Given the description of an element on the screen output the (x, y) to click on. 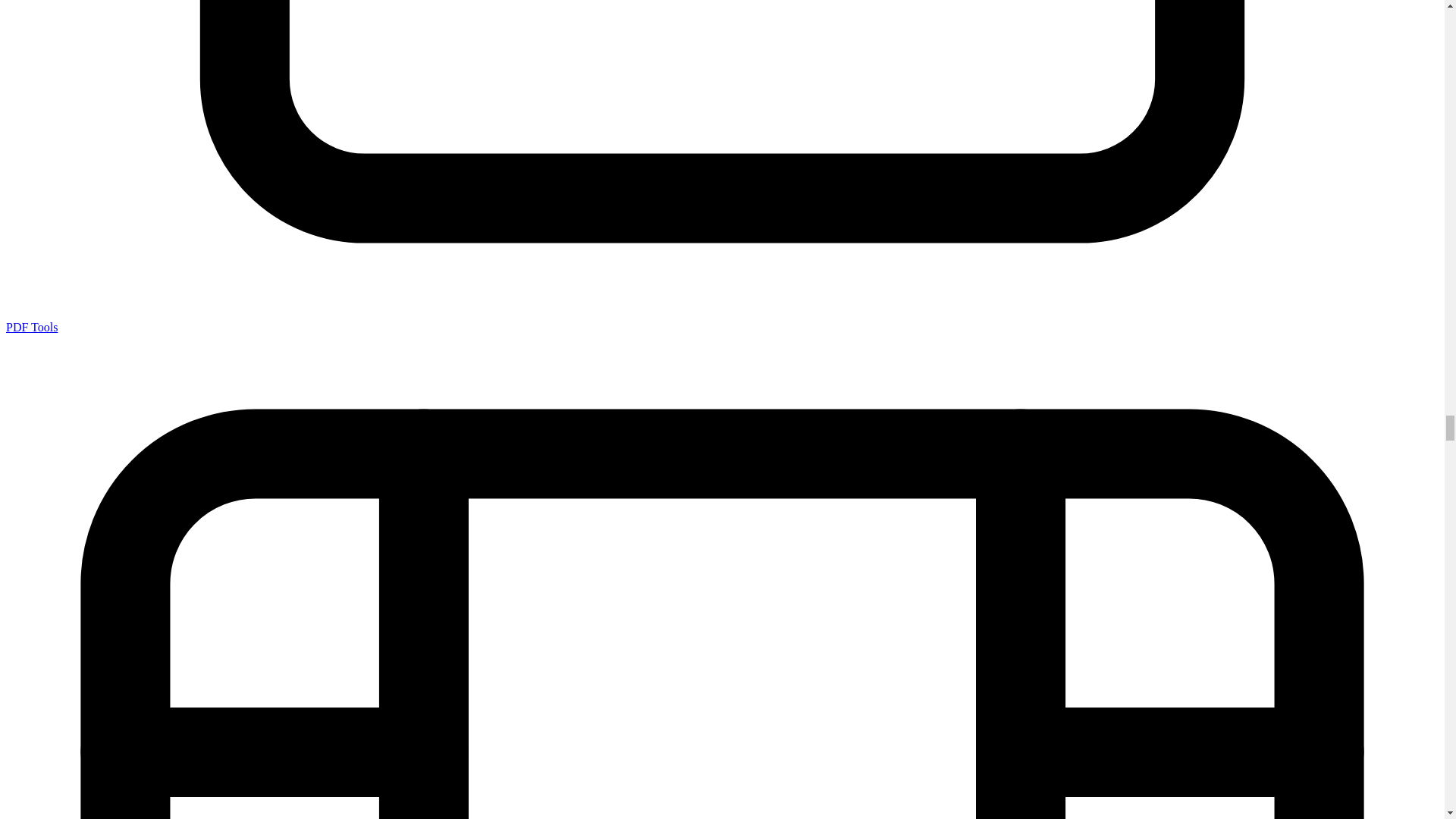
PDF Tools (31, 327)
